Given the description of an element on the screen output the (x, y) to click on. 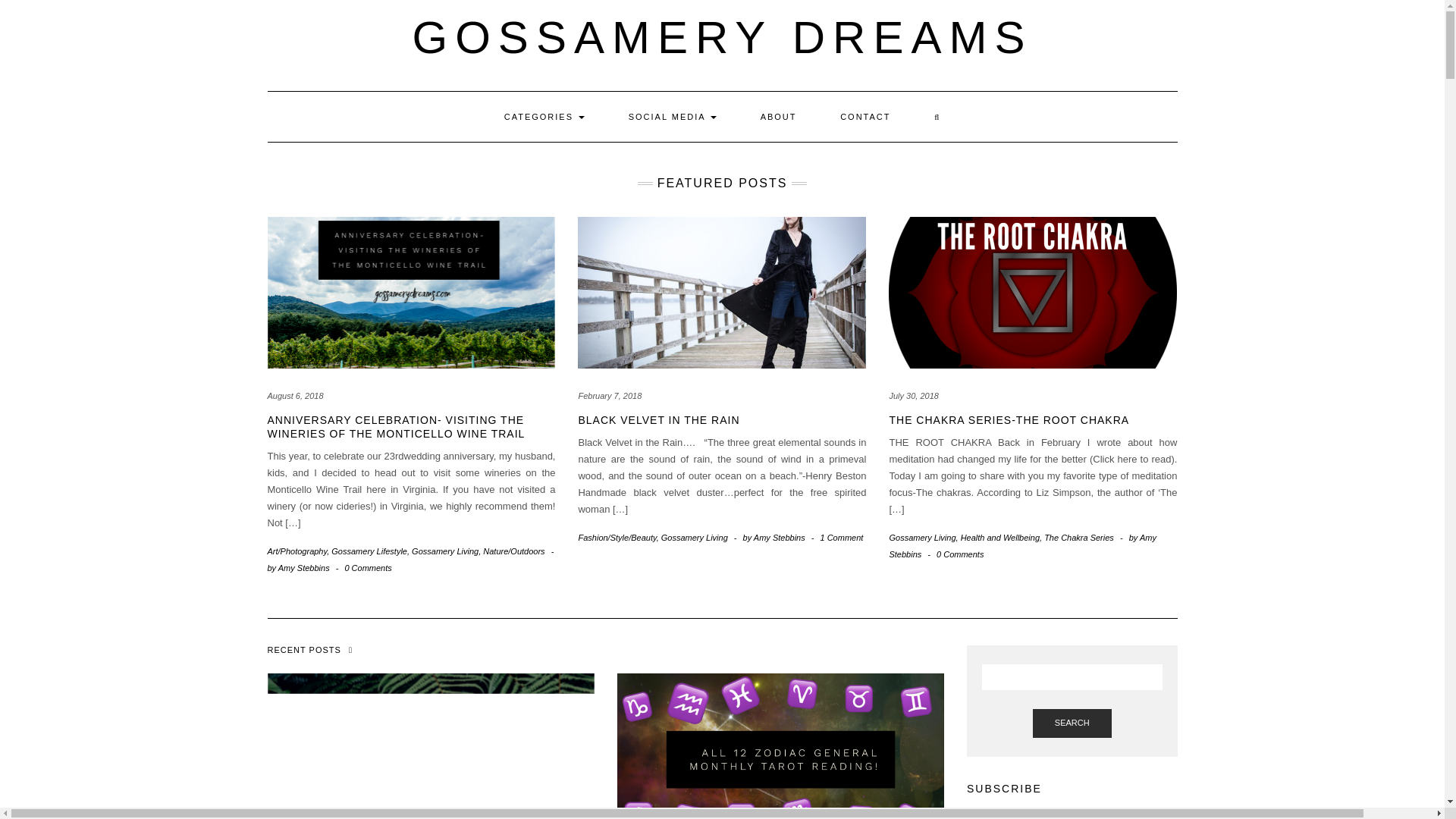
BLACK VELVET IN THE RAIN (658, 419)
Gossamery Lifestyle (369, 551)
SOCIAL MEDIA (672, 116)
1 Comment (842, 537)
Gossamery Living (921, 537)
0 Comments (960, 553)
Health and Wellbeing (999, 537)
Black Velvet in the Rain (658, 419)
